Given the description of an element on the screen output the (x, y) to click on. 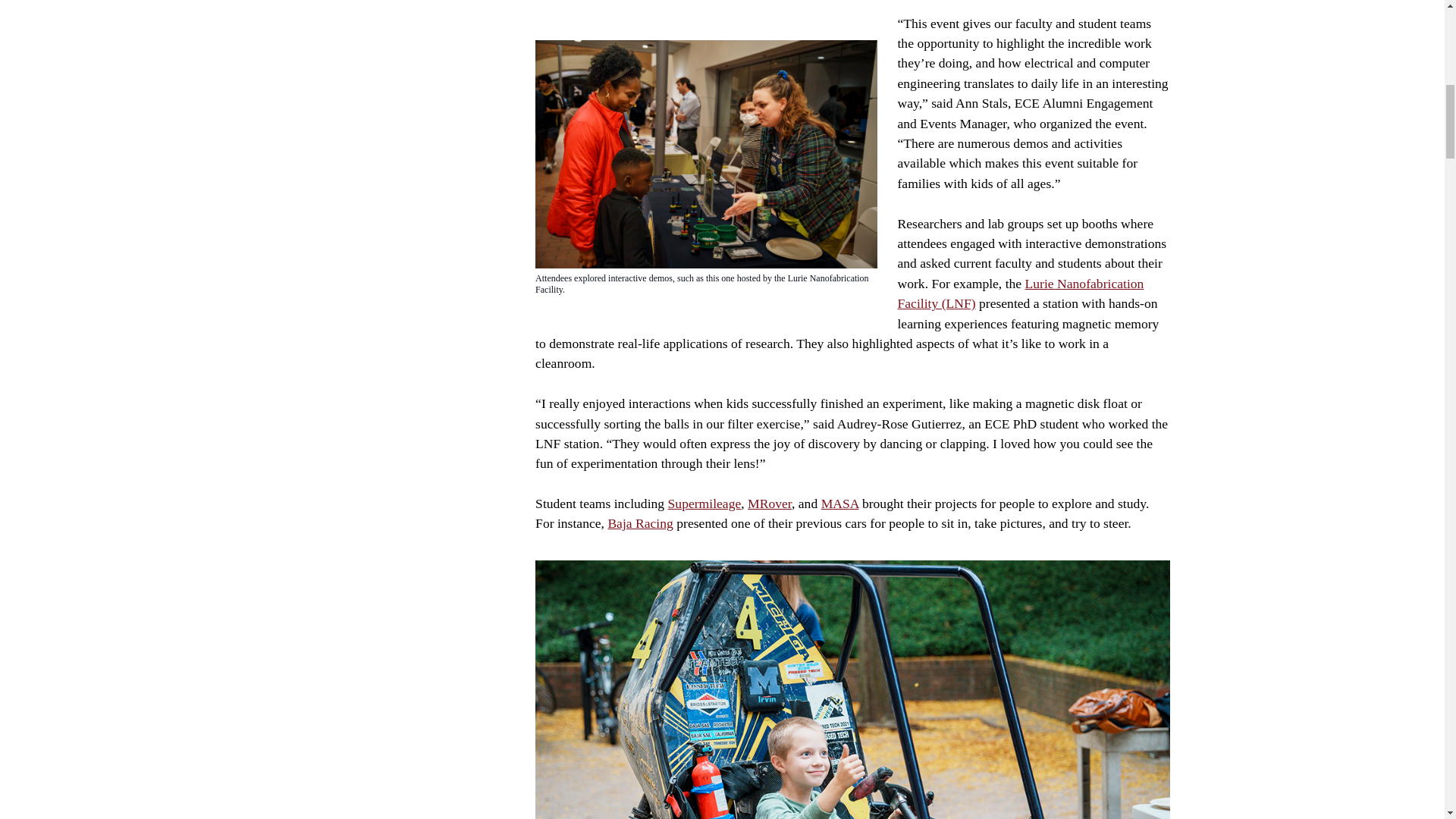
MASA (840, 503)
MRover (770, 503)
Baja Racing (639, 522)
Supermileage (704, 503)
